Given the description of an element on the screen output the (x, y) to click on. 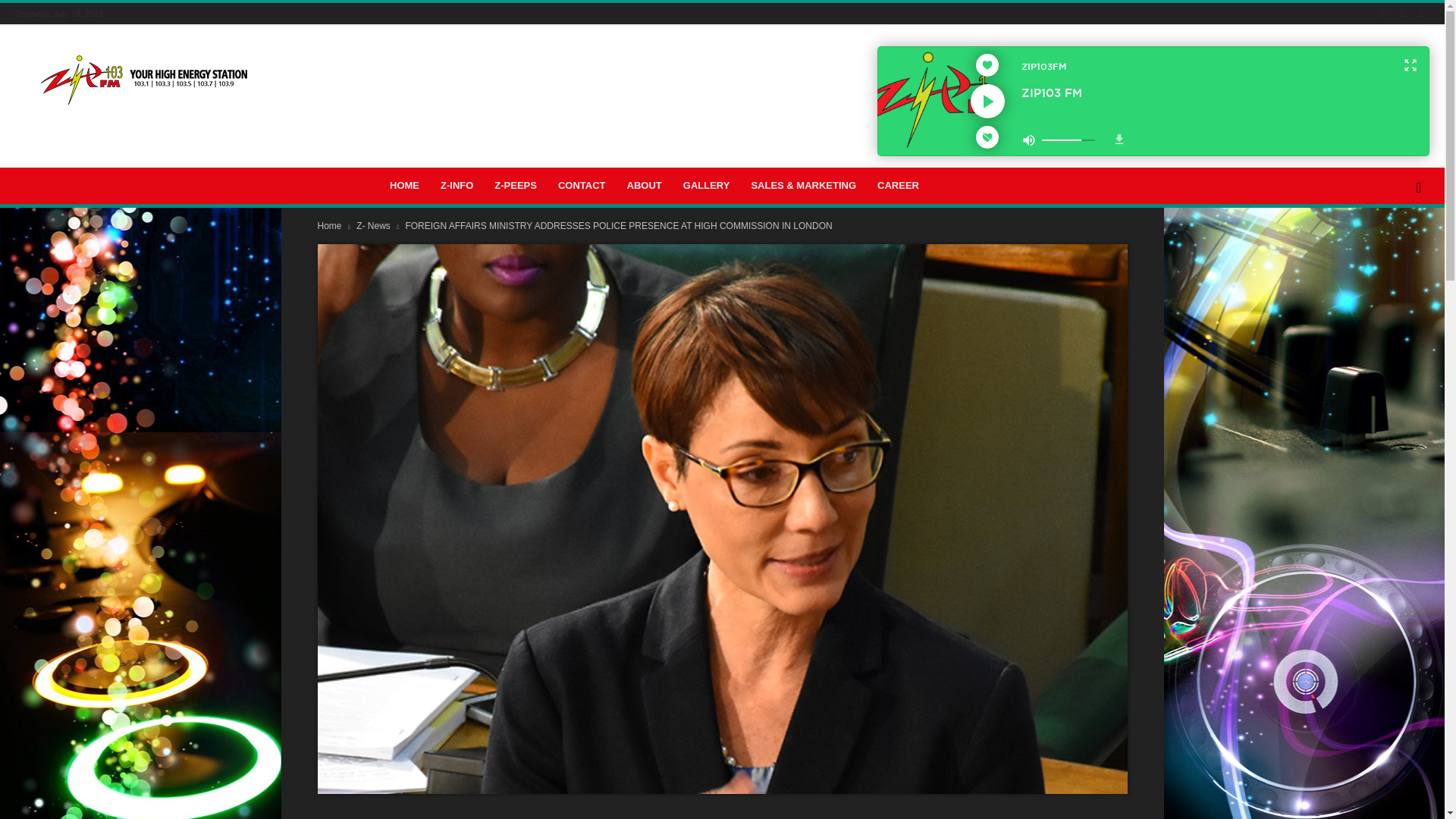
Search (1394, 250)
Z- News (374, 225)
Instagram (1401, 13)
Home (328, 225)
Twitter (1420, 13)
View all posts in Z- News (374, 225)
Z-PEEPS (515, 185)
GALLERY (706, 185)
ABOUT (643, 185)
CONTACT (581, 185)
103.1, 103.3, 103.5, 103.7, 103.9 (143, 79)
Facebook (1382, 13)
HOME (403, 185)
CAREER (898, 185)
